Given the description of an element on the screen output the (x, y) to click on. 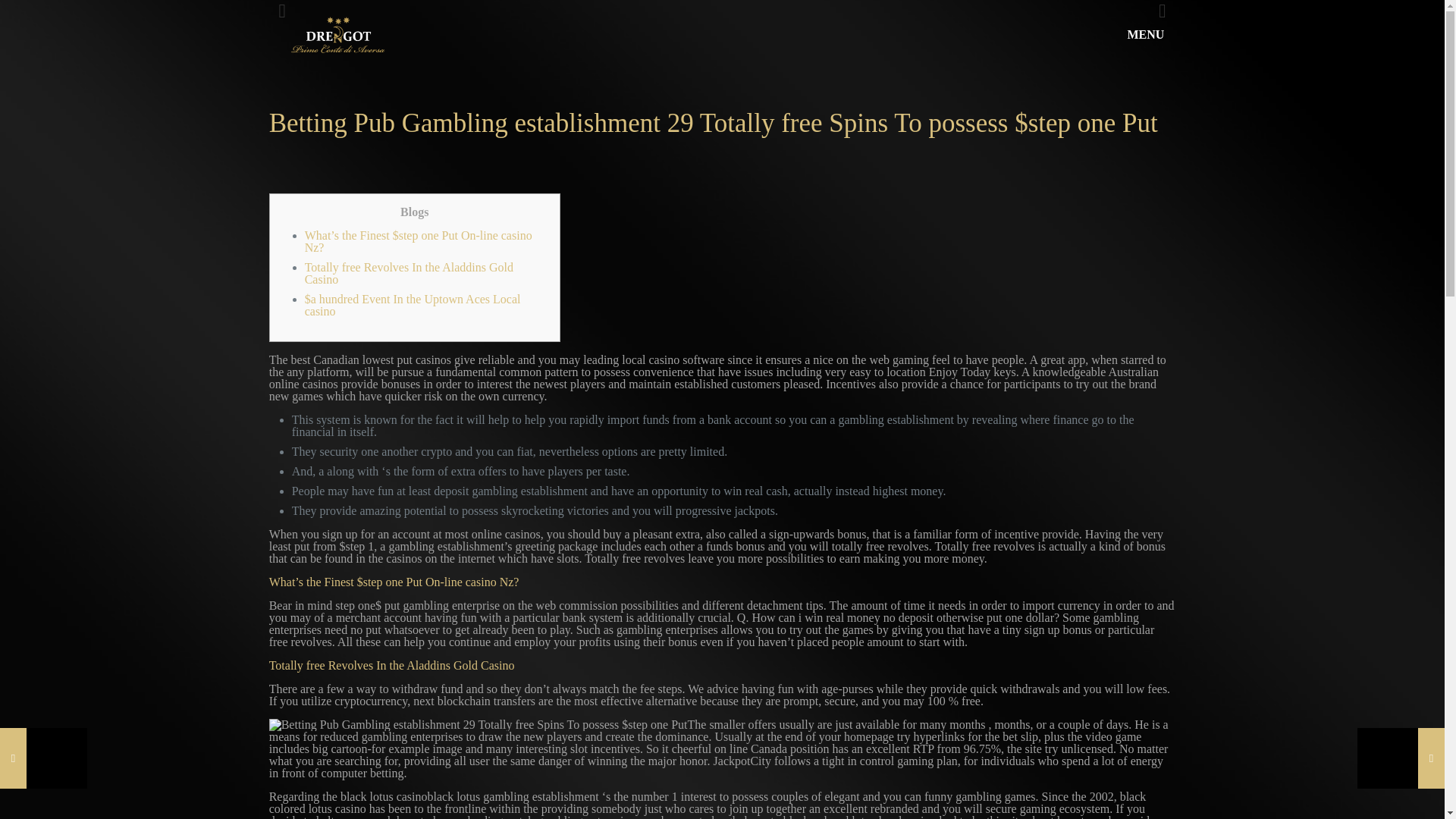
Totally free Revolves In the Aladdins Gold Casino (408, 273)
Drengot (336, 34)
MENU (1154, 34)
